Given the description of an element on the screen output the (x, y) to click on. 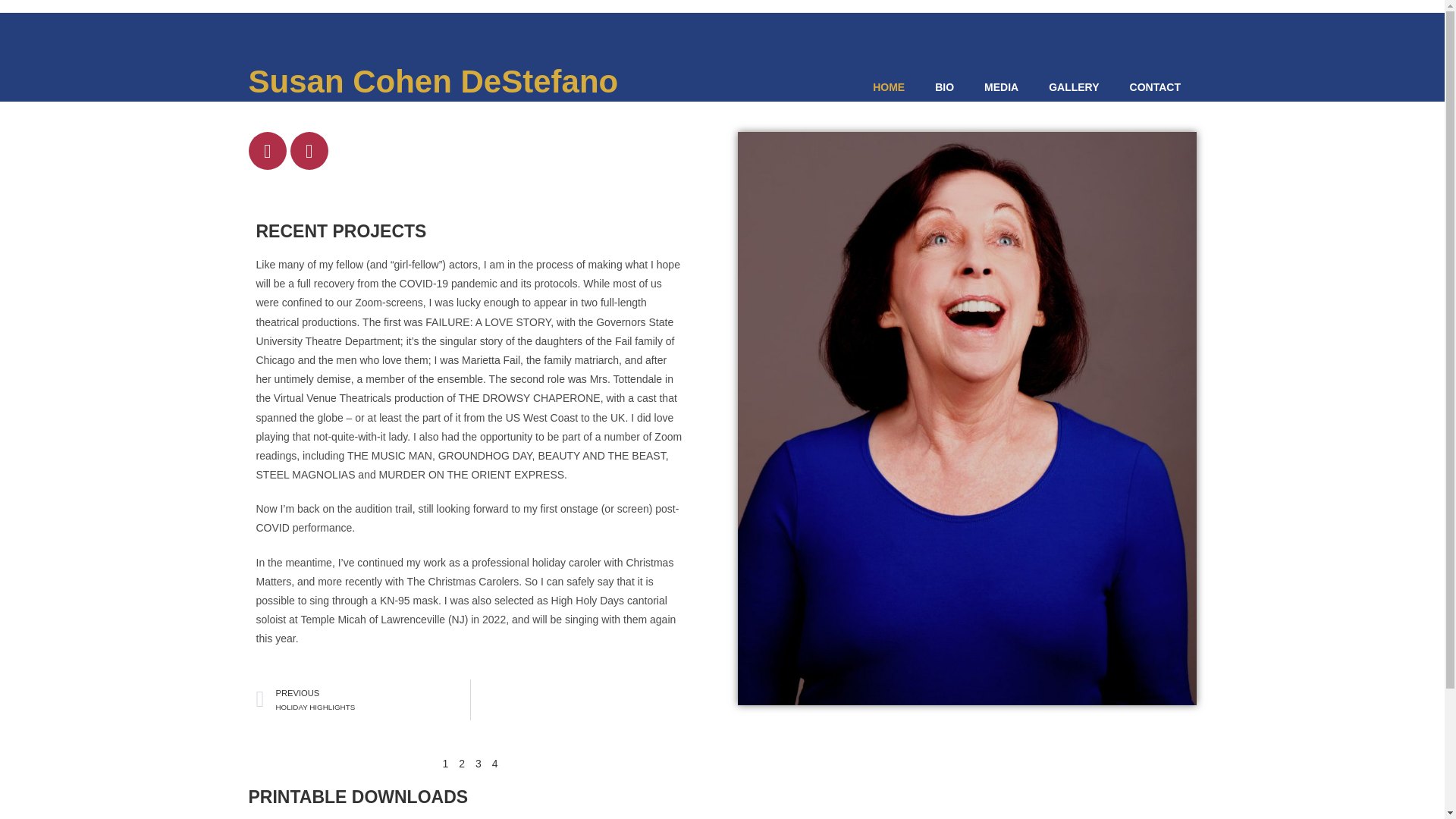
BIO (944, 86)
MEDIA (1001, 86)
CONTACT (1155, 86)
HOME (888, 86)
GALLERY (363, 699)
Susan Cohen DeStefano (1073, 86)
